Given the description of an element on the screen output the (x, y) to click on. 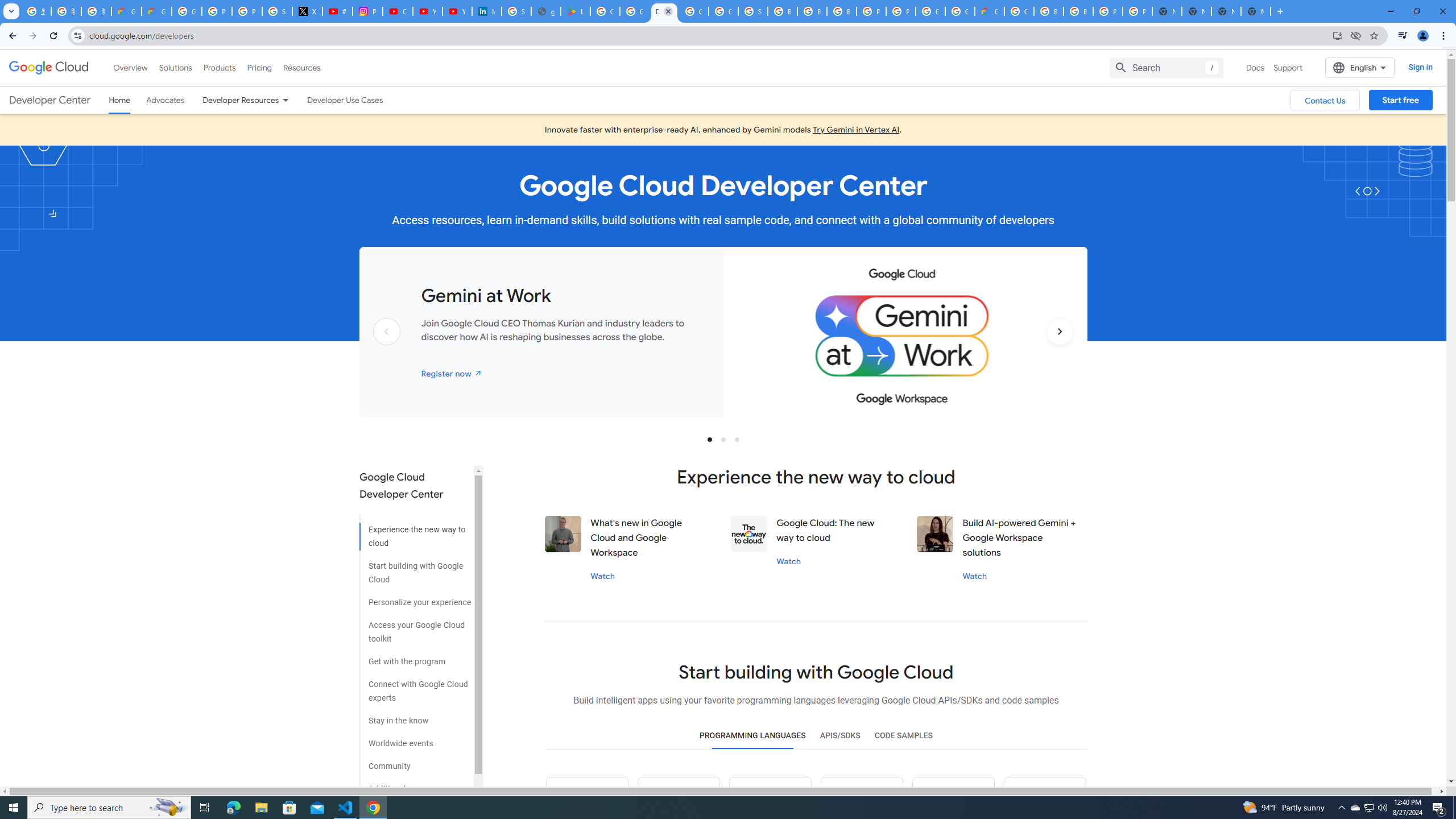
CODE SAMPLES (903, 735)
Solutions (175, 67)
Resources (301, 67)
Connect with Google Cloud experts (415, 687)
Previous slide (386, 349)
#nbabasketballhighlights - YouTube (337, 11)
Python icon (587, 798)
Experience the new way to cloud (415, 532)
Data value (748, 533)
Developer Use Cases (344, 99)
